Given the description of an element on the screen output the (x, y) to click on. 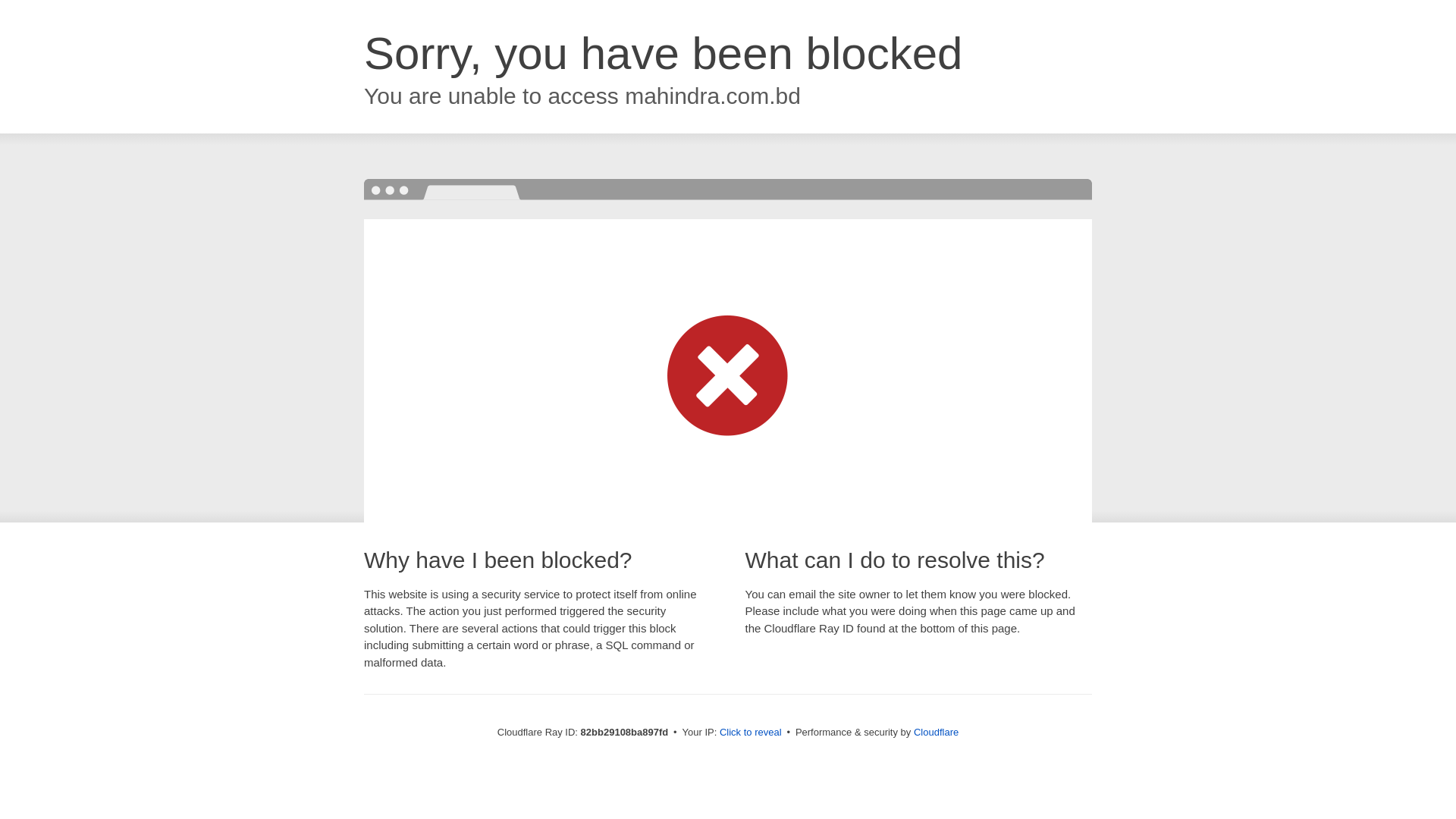
Click to reveal Element type: text (750, 732)
Cloudflare Element type: text (935, 731)
